Given the description of an element on the screen output the (x, y) to click on. 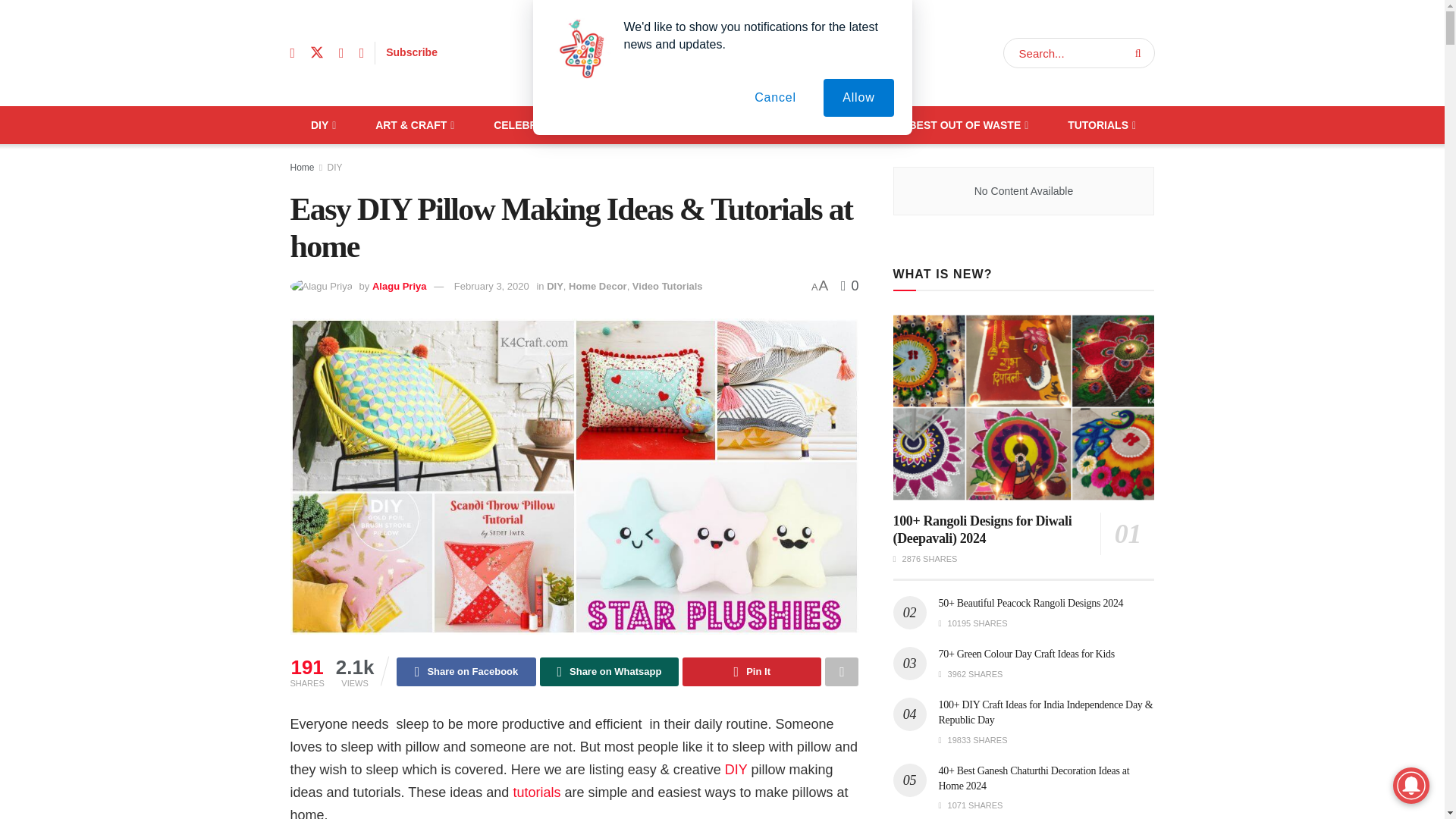
BEST OUT OF WASTE (967, 125)
CELEBRATIONS (537, 125)
DIY (321, 125)
Subscribe (411, 51)
TUTORIALS (1100, 125)
PAPER CRAFTS (667, 125)
